Given the description of an element on the screen output the (x, y) to click on. 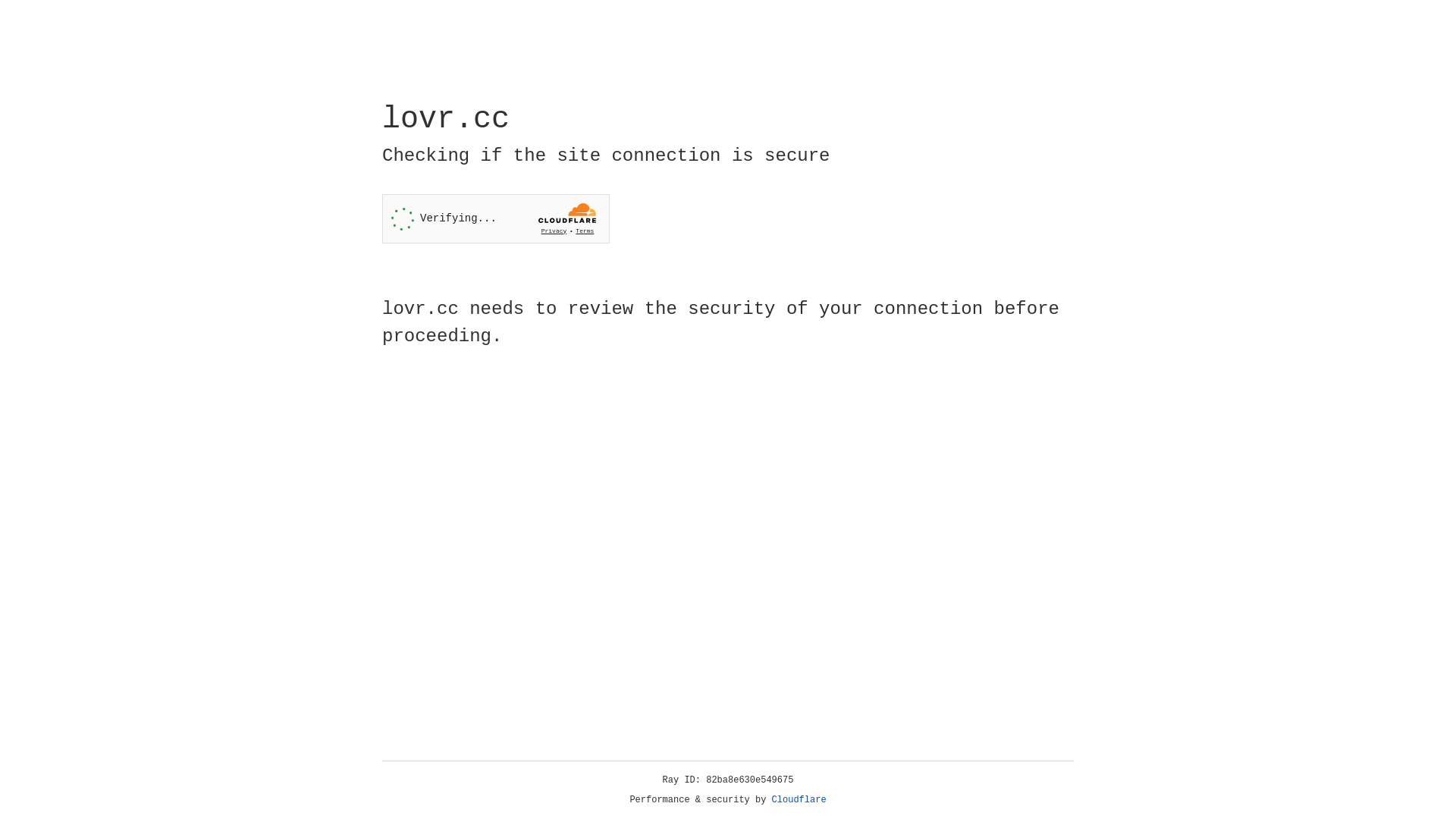
Widget containing a Cloudflare security challenge Element type: hover (495, 218)
Cloudflare Element type: text (798, 799)
